Given the description of an element on the screen output the (x, y) to click on. 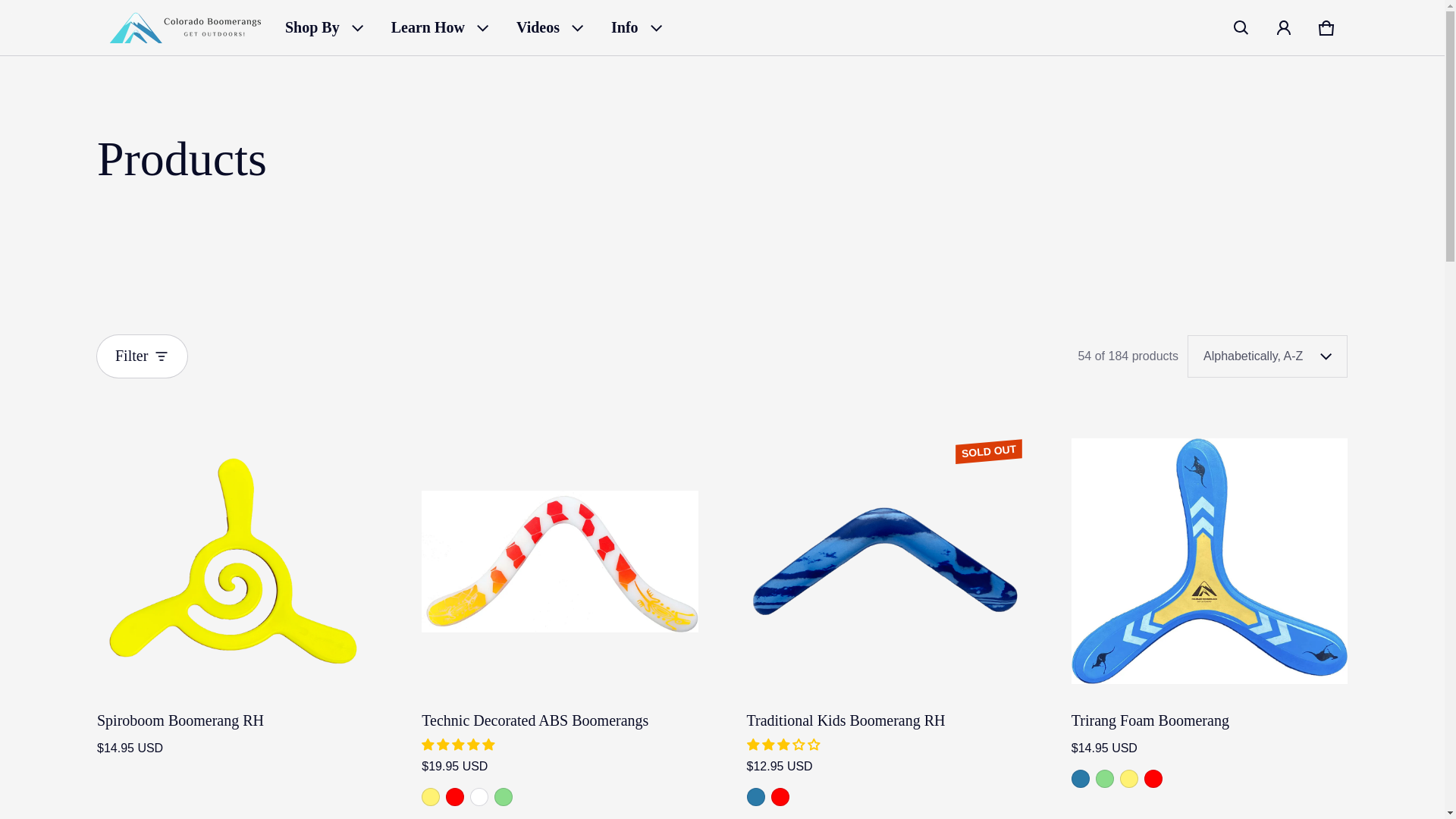
White (478, 796)
Yellow (430, 796)
Green (503, 796)
Green (1104, 778)
Yellow (1128, 778)
Red (1326, 26)
Blue (454, 796)
Red (1080, 778)
Red (779, 796)
Blue (1152, 778)
